Given the description of an element on the screen output the (x, y) to click on. 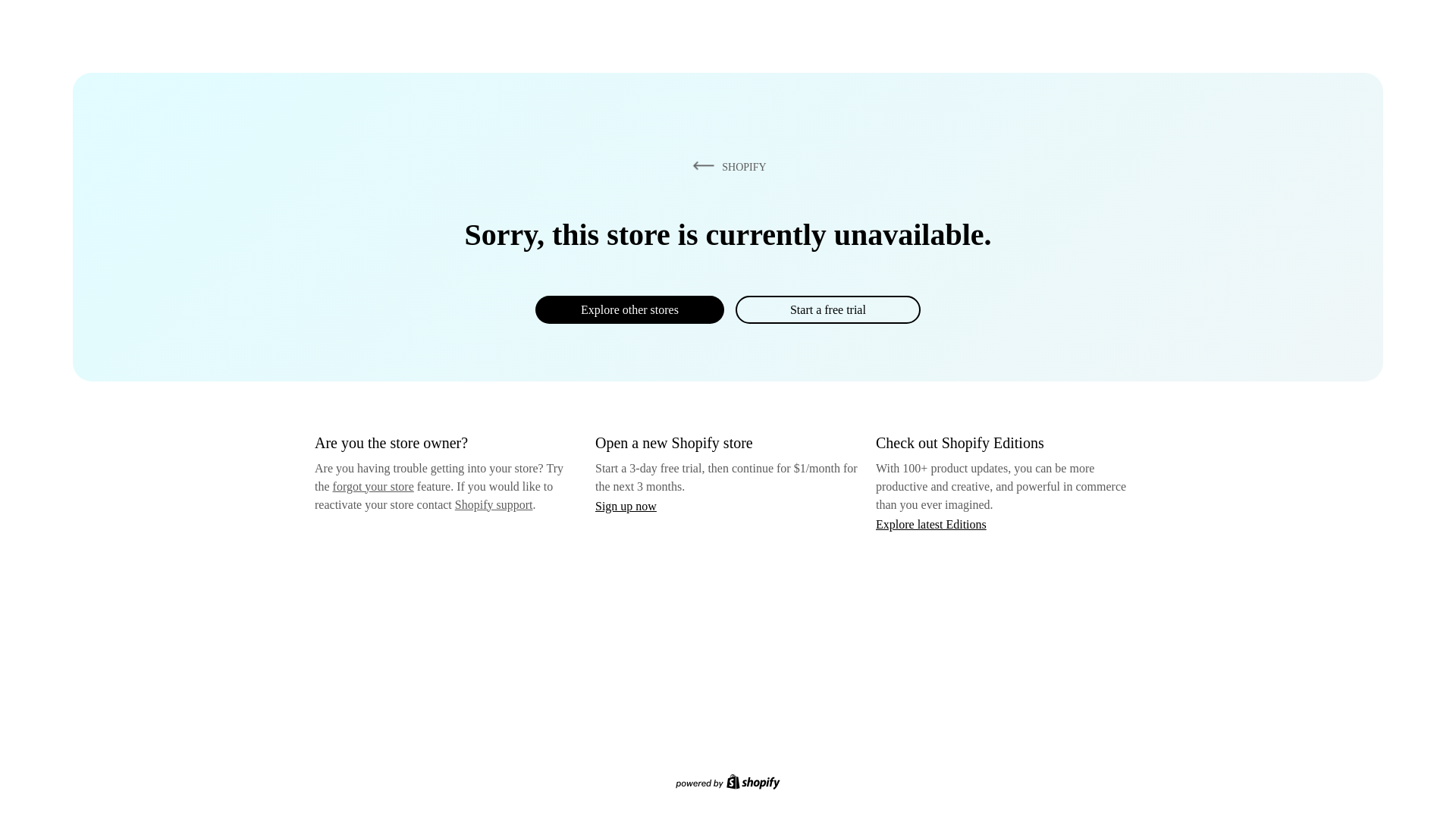
forgot your store (373, 486)
Explore latest Editions (931, 523)
Shopify support (493, 504)
Explore other stores (629, 309)
Sign up now (625, 505)
Start a free trial (827, 309)
SHOPIFY (726, 166)
